Given the description of an element on the screen output the (x, y) to click on. 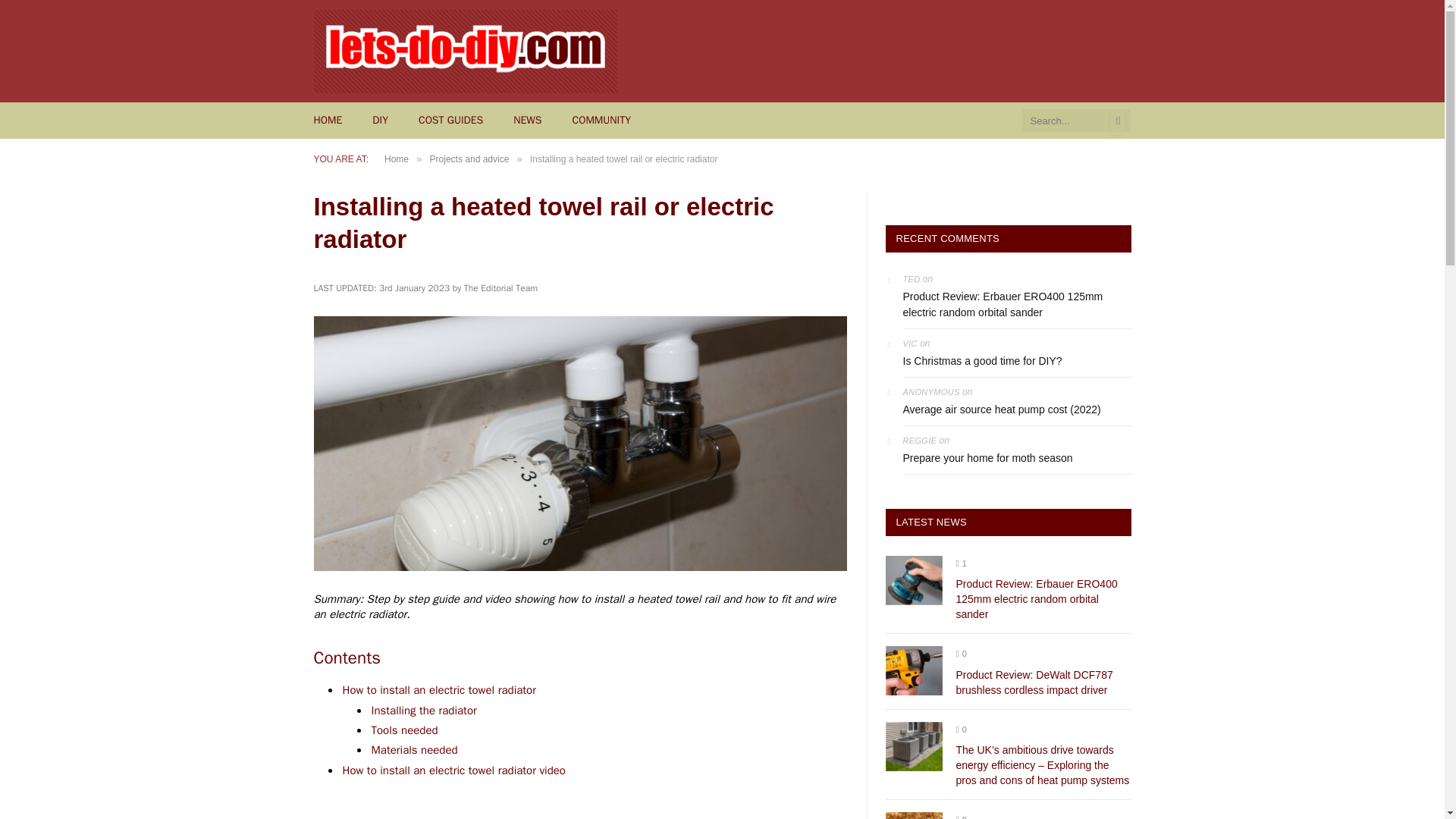
lets-do-diy.com (465, 50)
Potential DIY home improvement trends for 2023 (913, 815)
